Given the description of an element on the screen output the (x, y) to click on. 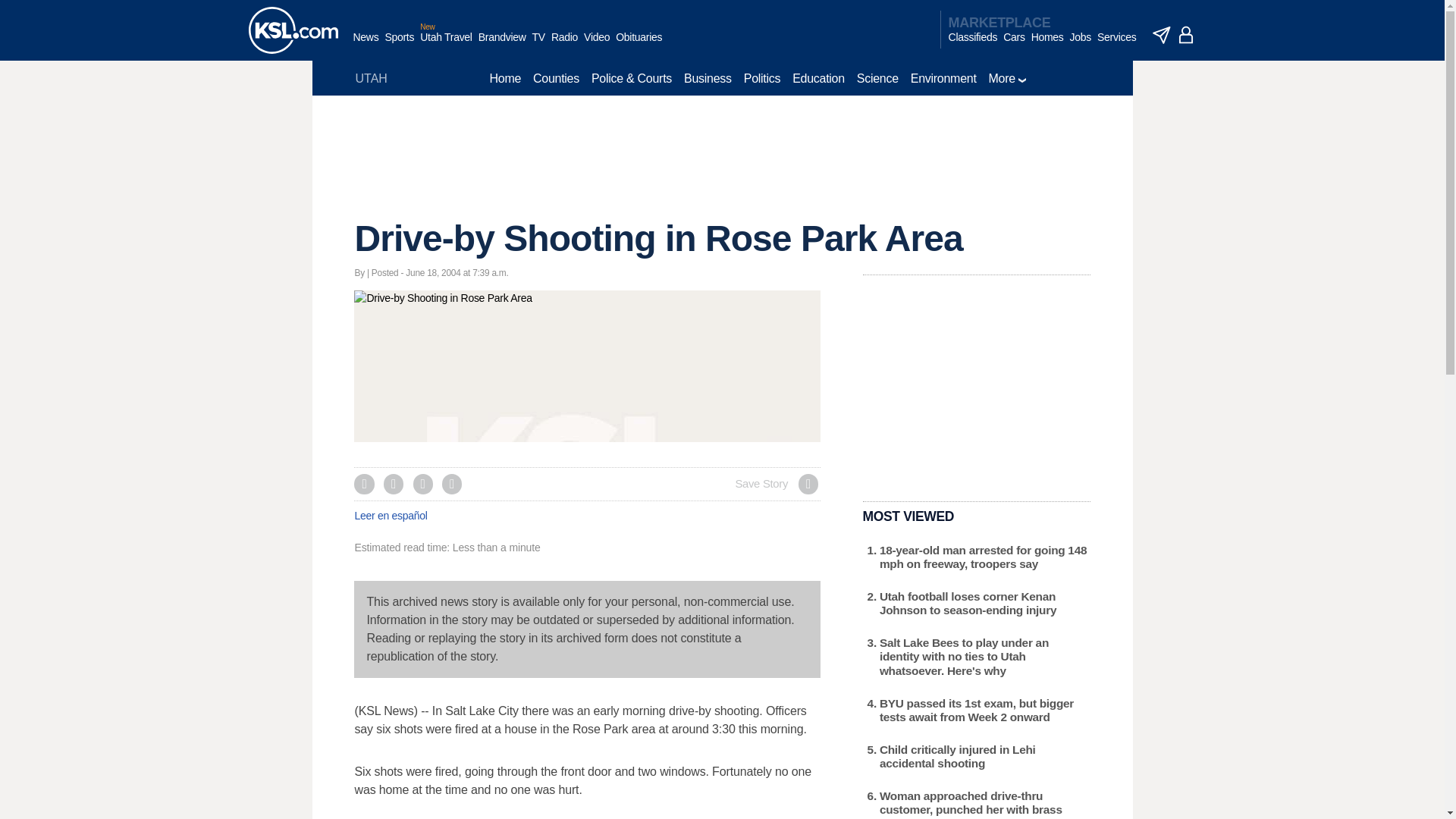
KSL homepage (292, 29)
account - logged out (1185, 34)
Utah Travel (445, 45)
Sports (398, 45)
KSL homepage (292, 30)
Brandview (502, 45)
